Given the description of an element on the screen output the (x, y) to click on. 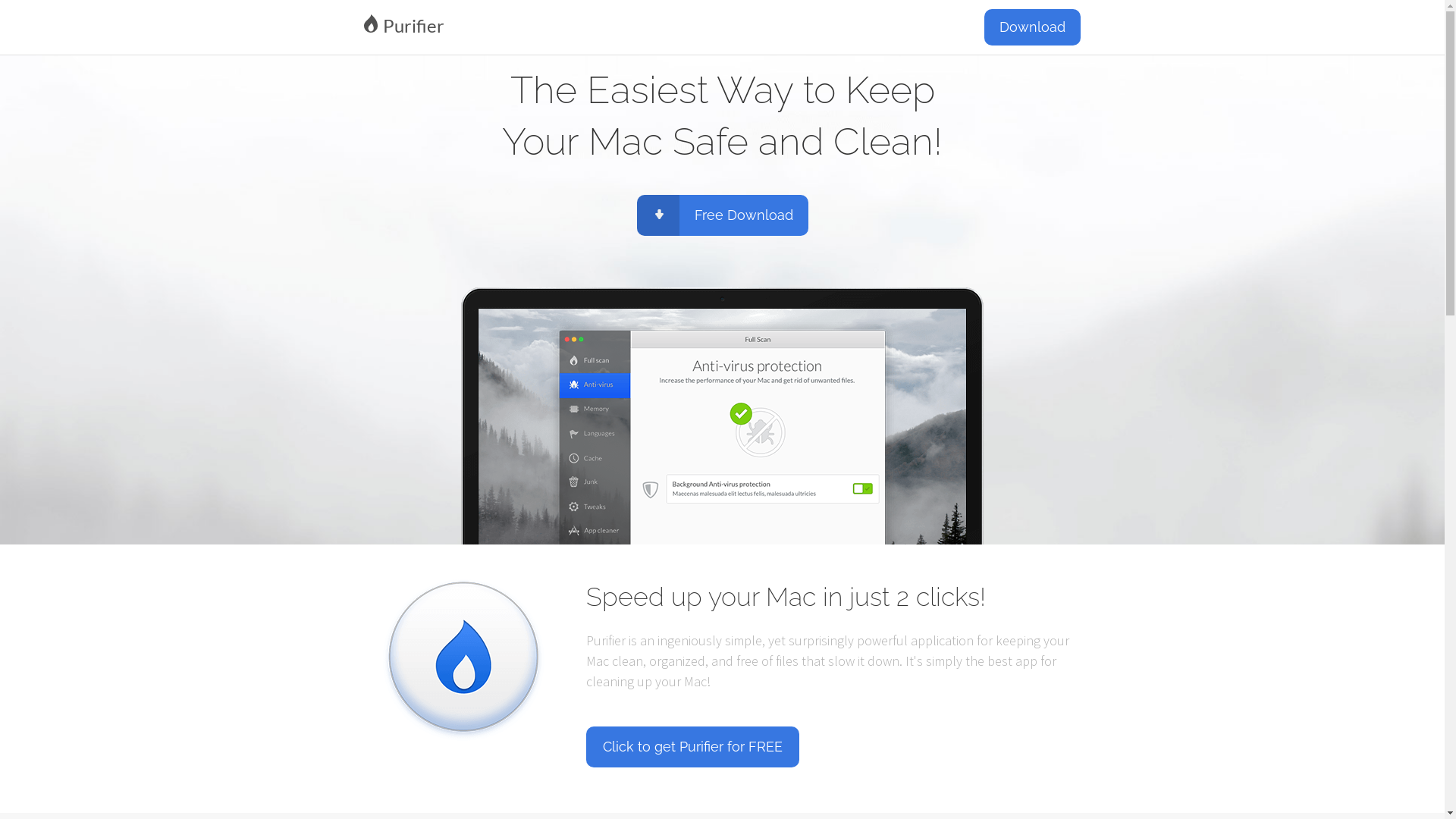
Download Element type: text (1032, 27)
Click to get Purifier for FREE Element type: text (691, 746)
Free Download Element type: text (722, 215)
Purifier Element type: text (537, 24)
